Given the description of an element on the screen output the (x, y) to click on. 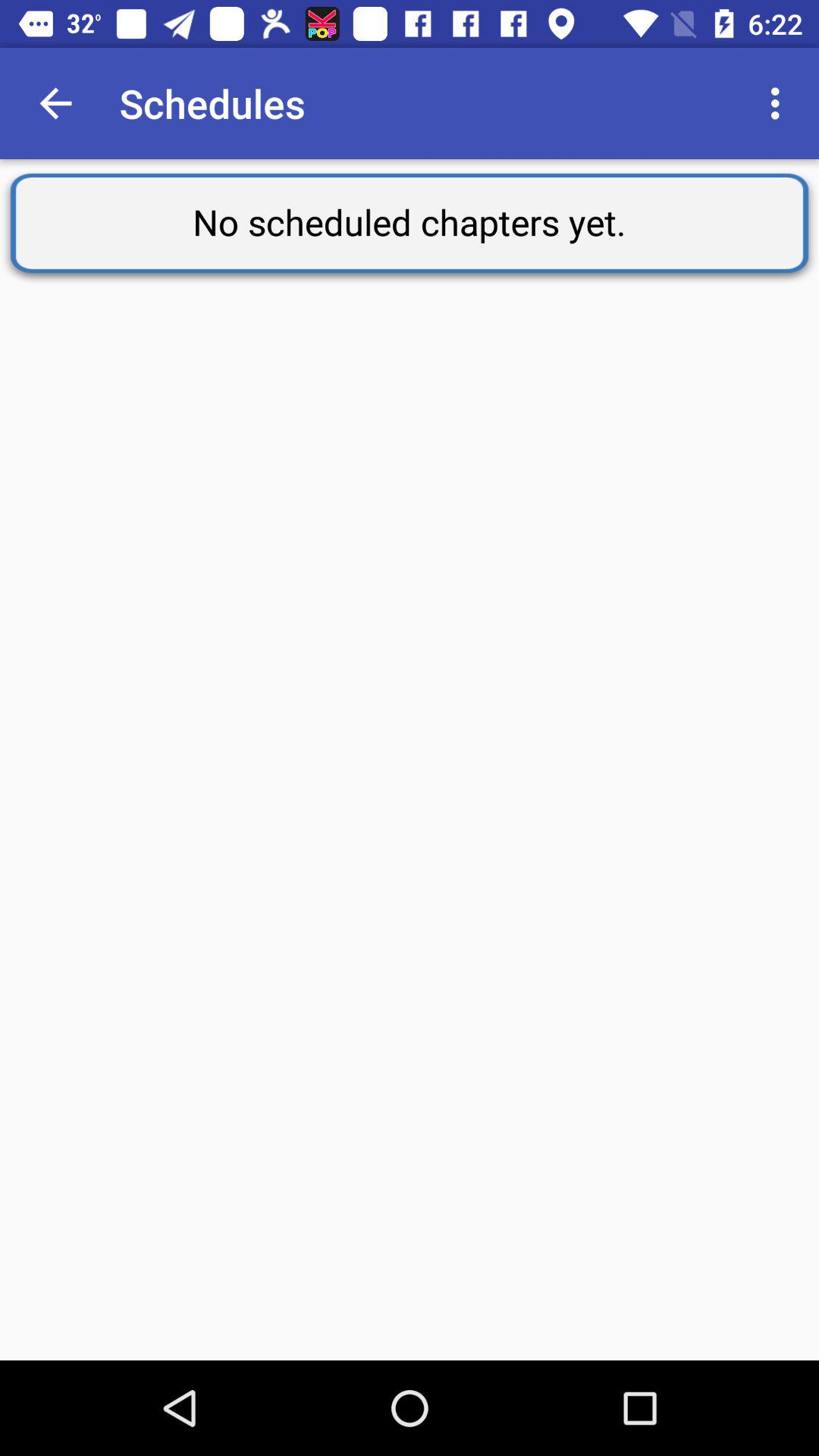
turn on the app next to schedules (55, 103)
